Given the description of an element on the screen output the (x, y) to click on. 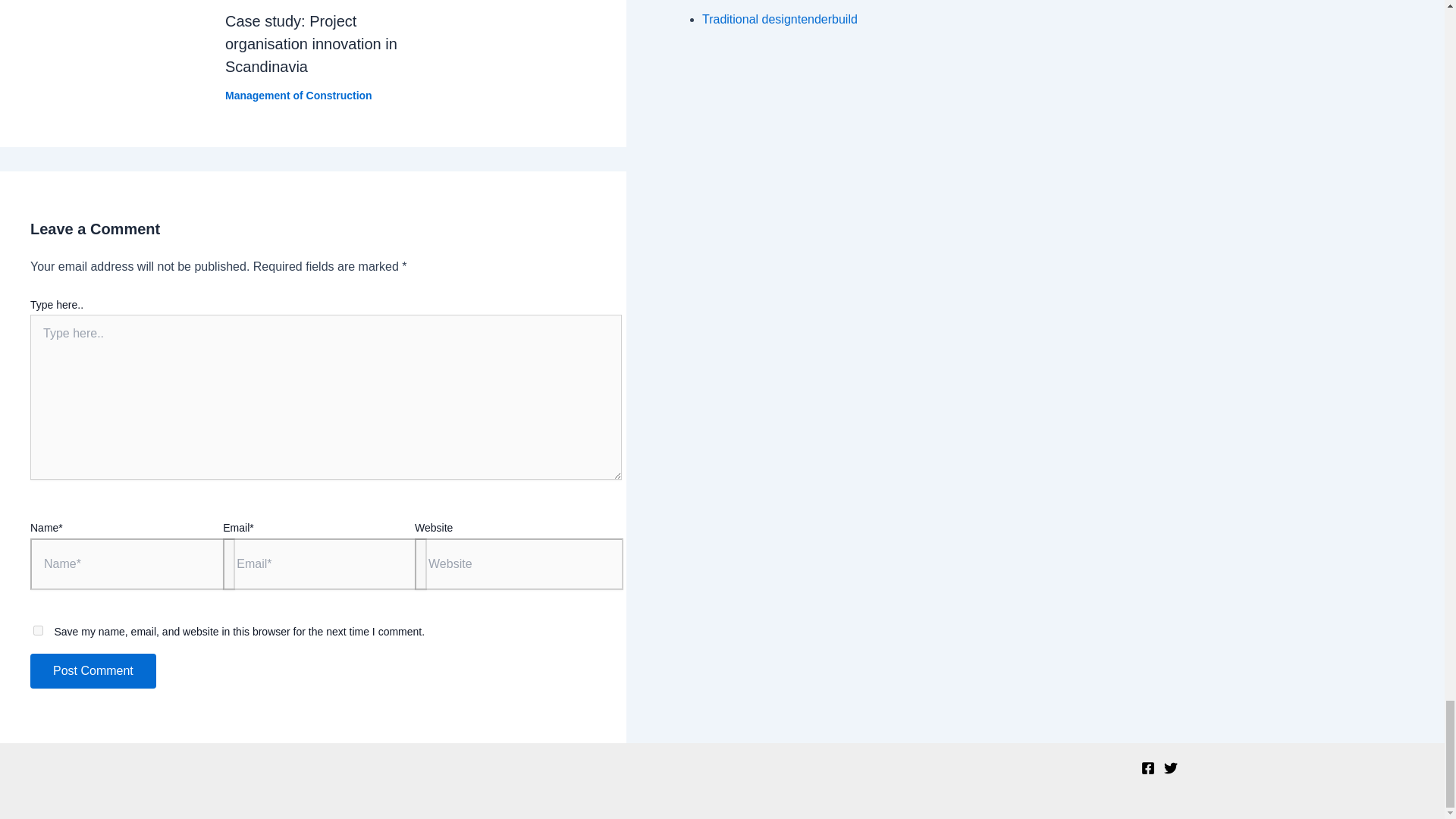
Traditional designtenderbuild (779, 19)
Post Comment (92, 670)
yes (38, 630)
